Given the description of an element on the screen output the (x, y) to click on. 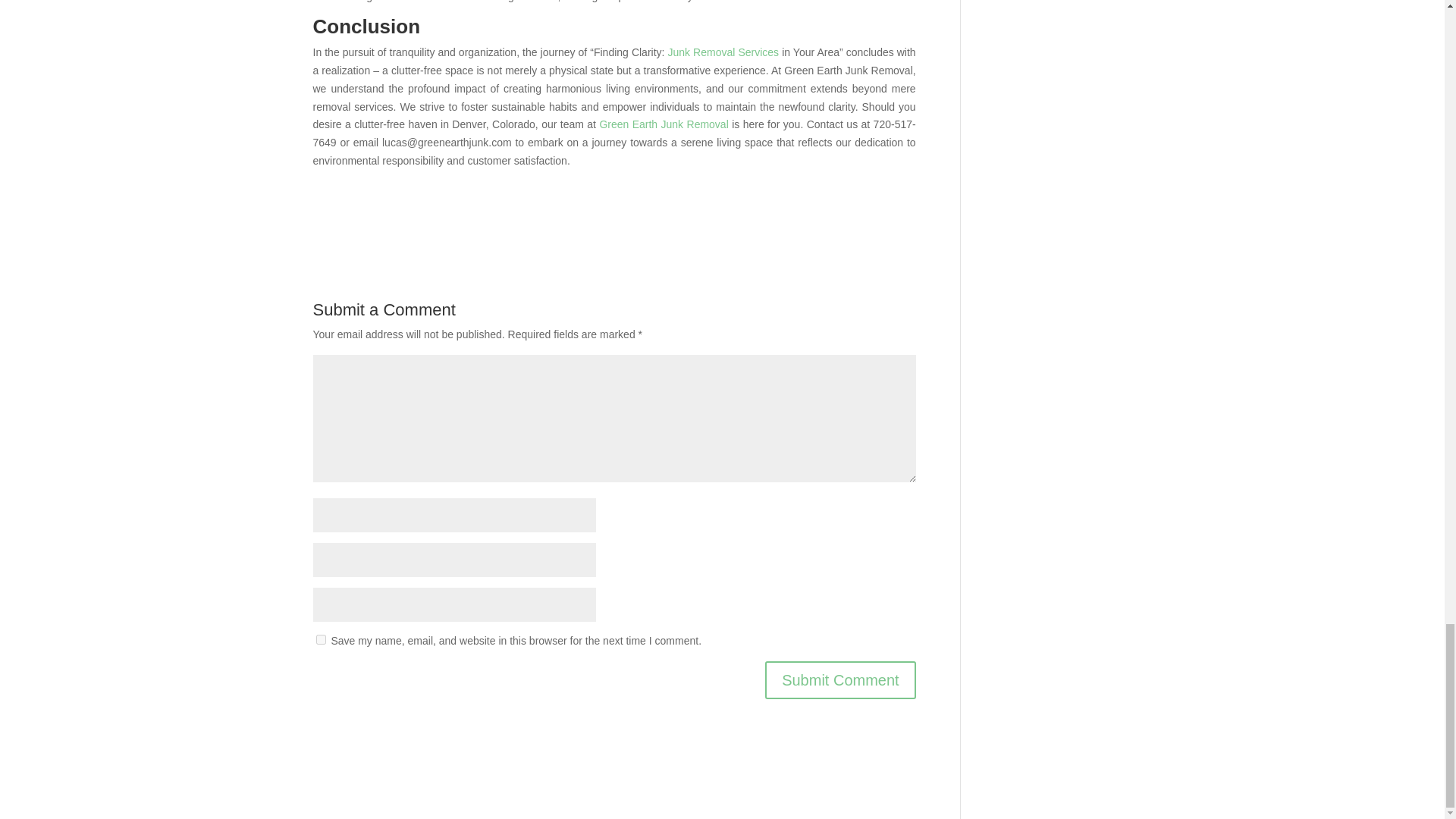
yes (319, 639)
Submit Comment (840, 679)
